Given the description of an element on the screen output the (x, y) to click on. 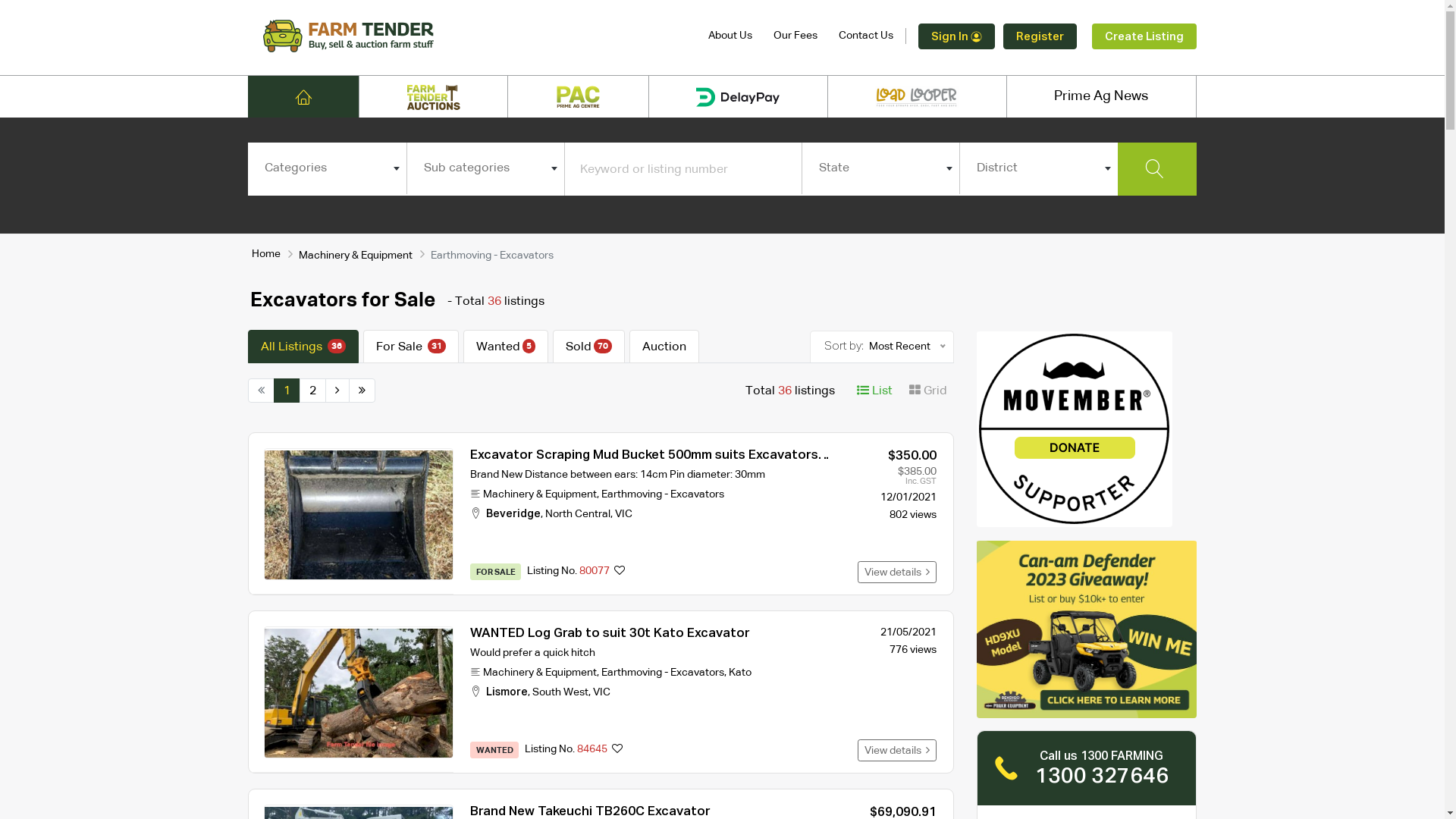
Auction Element type: text (664, 346)
Earthmoving - Excavators Element type: text (662, 494)
Our Fees Element type: text (795, 35)
North Central Element type: text (577, 513)
Machinery & Equipment Element type: text (355, 255)
Register Element type: text (1039, 36)
View details   Element type: text (896, 750)
Prime Ag News Element type: text (1101, 96)
Sign In Element type: text (956, 36)
Machinery & Equipment Element type: text (539, 494)
Add to Favorites Element type: hover (616, 749)
All Listings 36 Element type: text (302, 346)
Create Listing Element type: text (1144, 36)
List Element type: text (874, 390)
For Sale 31 Element type: text (410, 346)
Contact Us Element type: text (865, 35)
Earthmoving - Excavators Element type: text (662, 672)
Grid Element type: text (927, 390)
Brand New Takeuchi TB260C Excavator Element type: text (590, 811)
First page Element type: hover (260, 390)
Kato Element type: text (739, 672)
Add to Favorites Element type: hover (619, 571)
South West Element type: text (560, 692)
1 Element type: text (286, 390)
About Us Element type: text (730, 35)
Next page Element type: hover (337, 390)
View details   Element type: text (896, 572)
2 Element type: text (312, 390)
Wanted5 Element type: text (505, 346)
Sold70 Element type: text (588, 346)
WANTED Log Grab to suit 30t Kato Excavator Element type: text (609, 633)
Home Element type: text (265, 253)
Machinery & Equipment Element type: text (539, 672)
VIC Element type: text (601, 692)
Last page Element type: hover (361, 390)
VIC Element type: text (623, 513)
Call us 1300 FARMING
1300 327646 Element type: text (1086, 768)
